Given the description of an element on the screen output the (x, y) to click on. 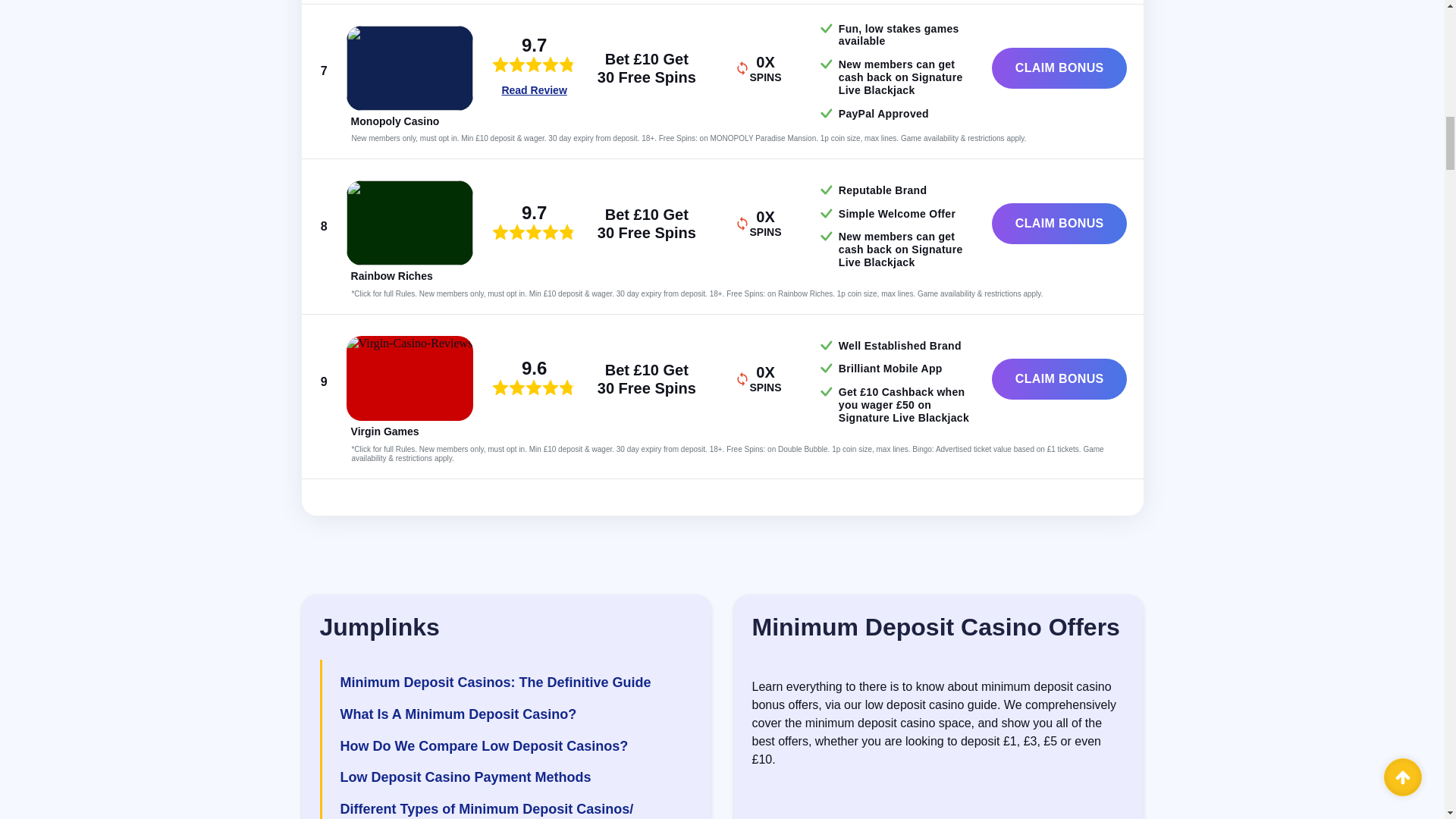
Monopoly Casino (394, 121)
Monopoly Casino (409, 67)
